Given the description of an element on the screen output the (x, y) to click on. 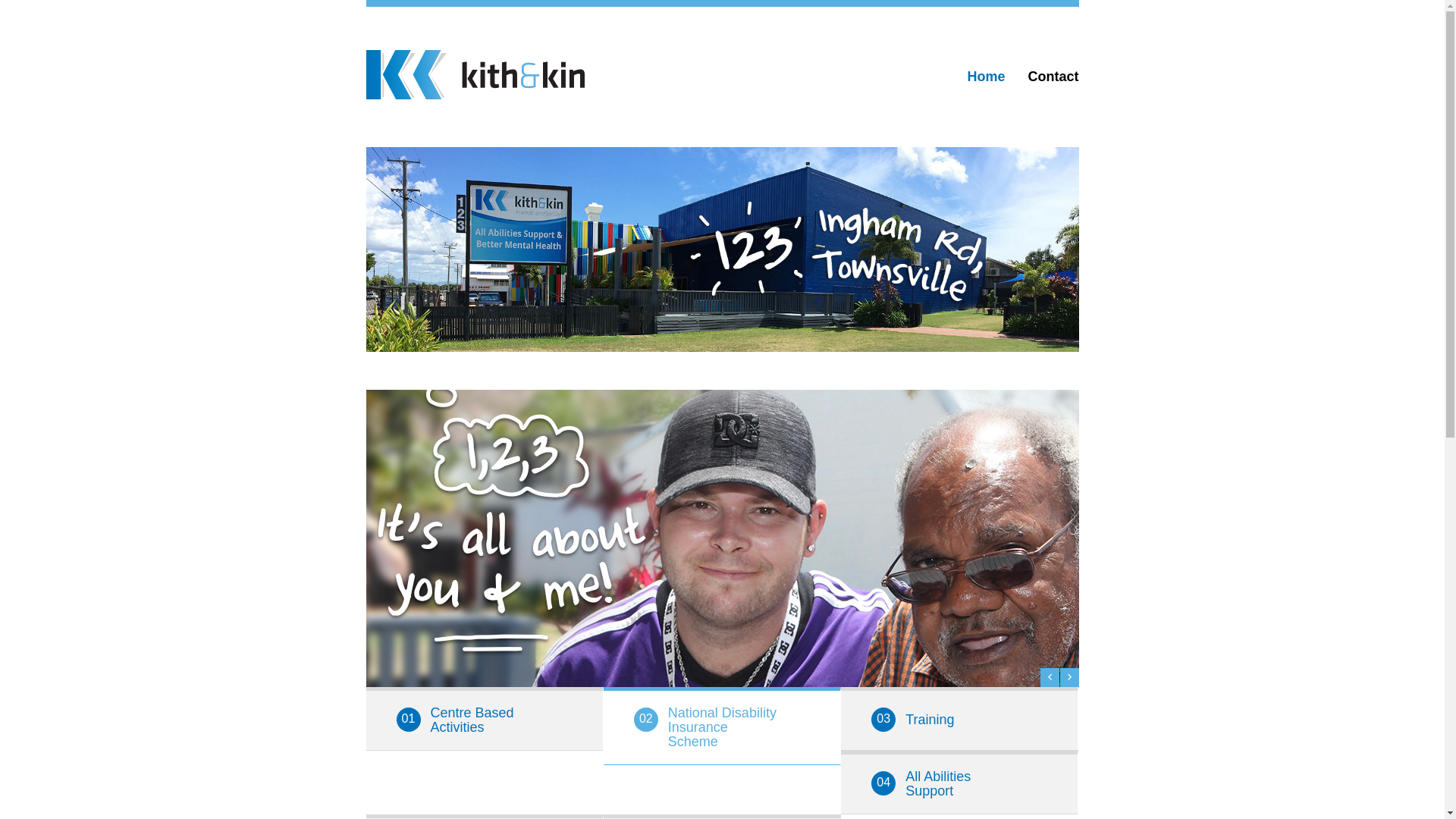
02
National Disability Insurance Scheme Element type: text (721, 726)
Home Element type: text (985, 86)
04
All Abilities Support Element type: text (959, 782)
03
Training Element type: text (959, 718)
01
Centre Based Activities Element type: text (483, 718)
Contact Element type: text (1053, 86)
